Given the description of an element on the screen output the (x, y) to click on. 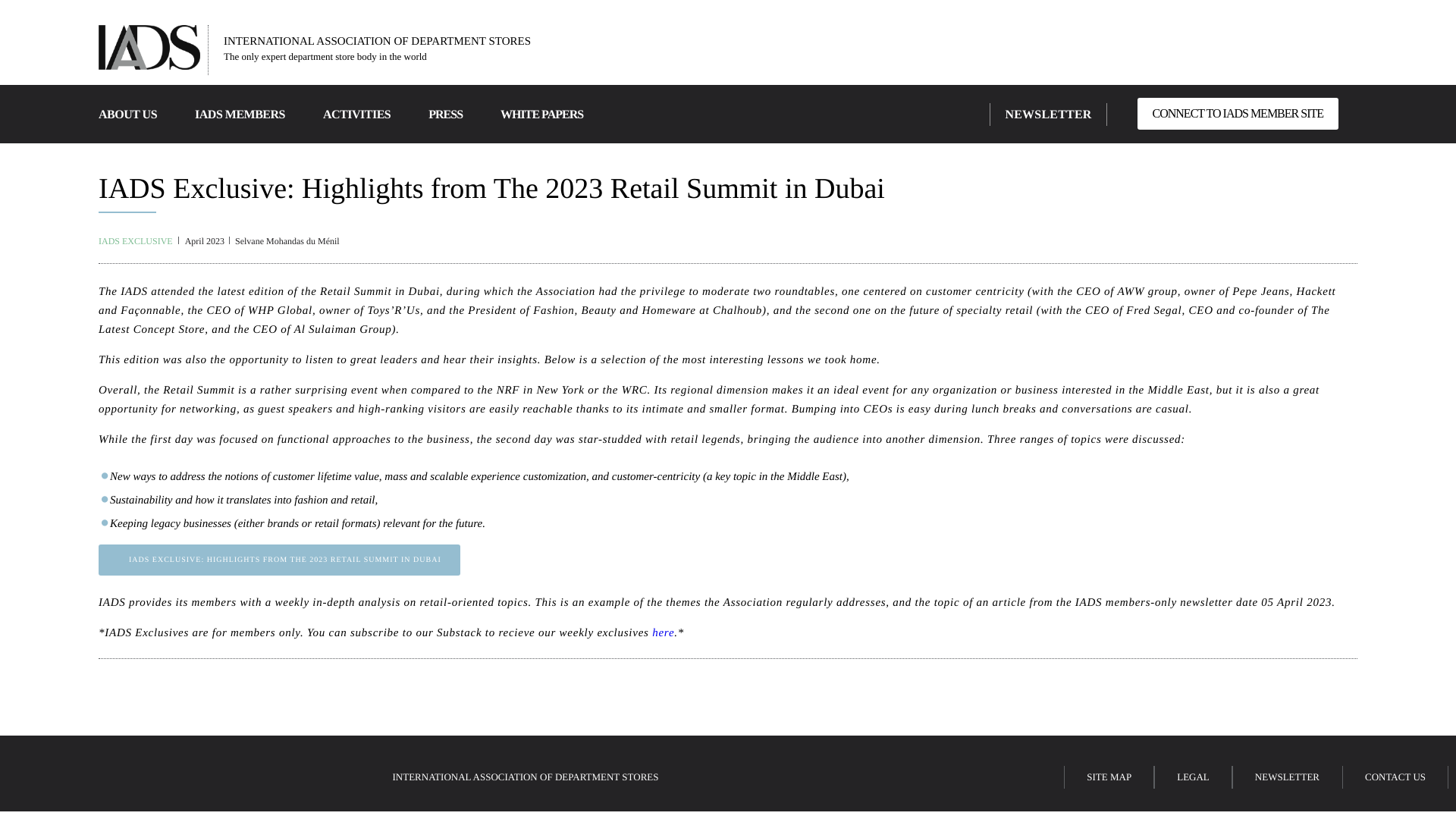
NEWSLETTER (1048, 114)
PRESS (445, 114)
CONNECT TO IADS MEMBER SITE (1237, 113)
WHITE PAPERS (541, 114)
here (663, 633)
